Given the description of an element on the screen output the (x, y) to click on. 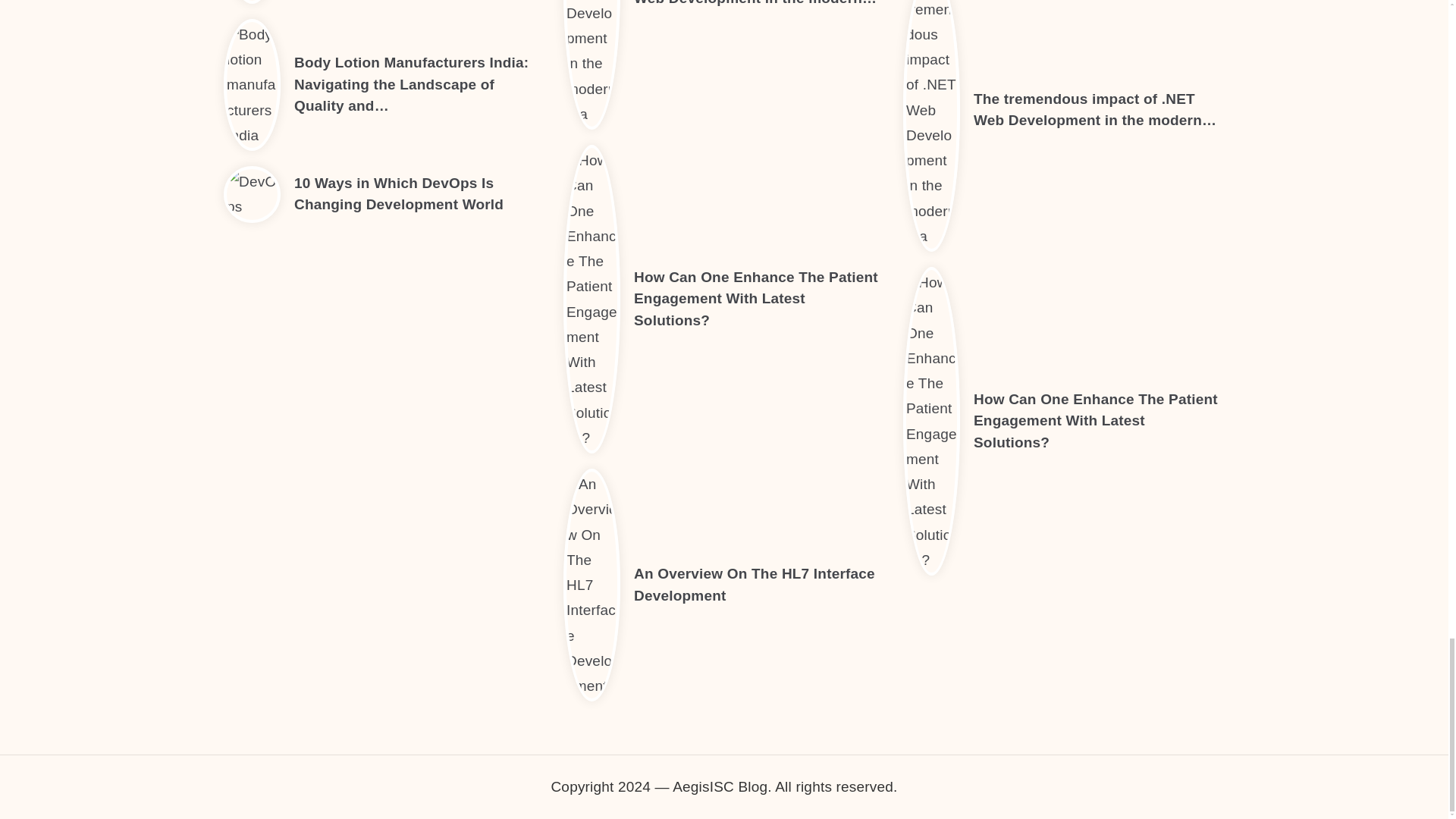
An Overview On The HL7 Interface Development (754, 584)
10 Ways in Which DevOps Is Changing Development World (398, 193)
